Given the description of an element on the screen output the (x, y) to click on. 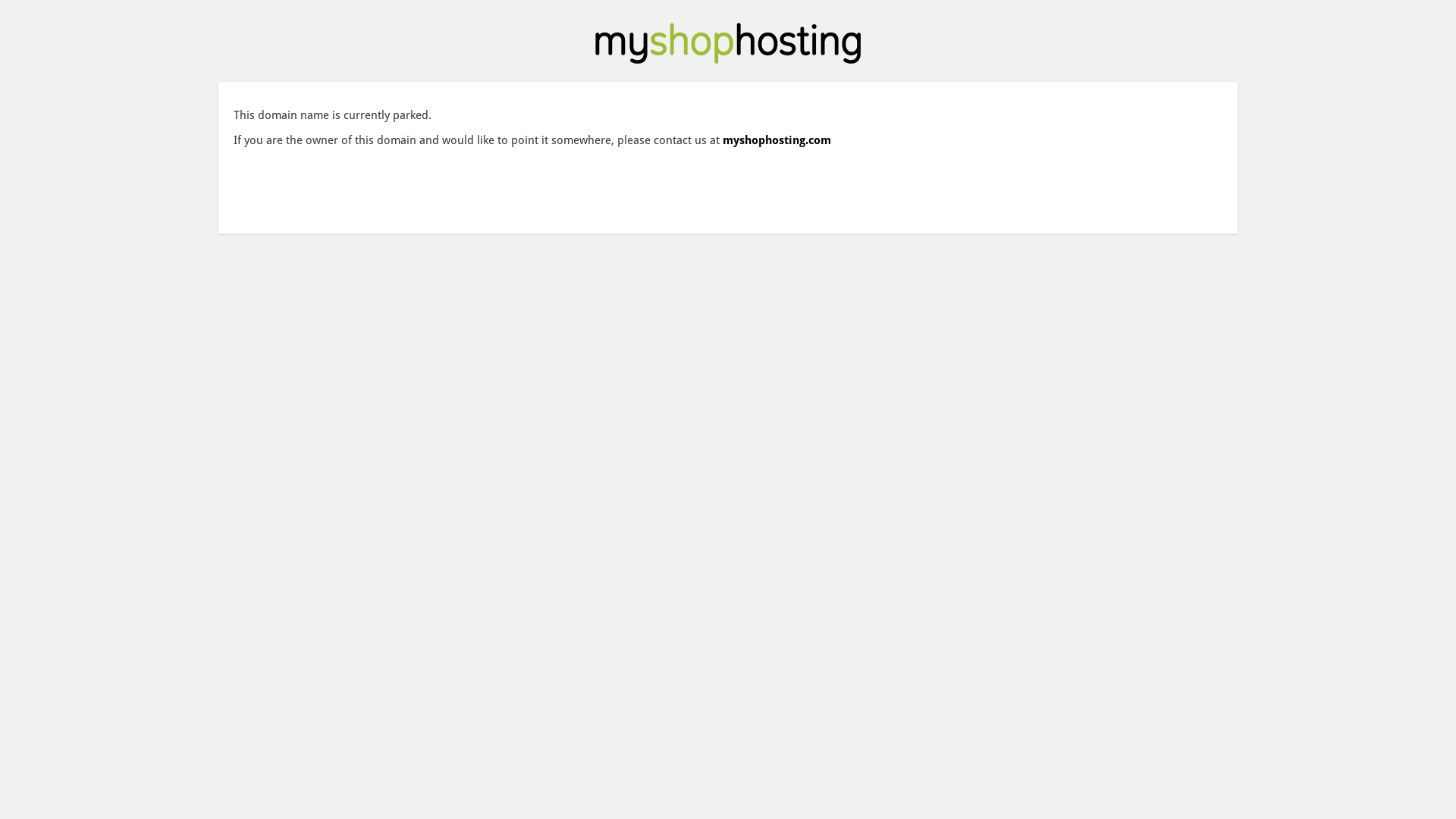
myshophosting.com Element type: text (776, 140)
